Given the description of an element on the screen output the (x, y) to click on. 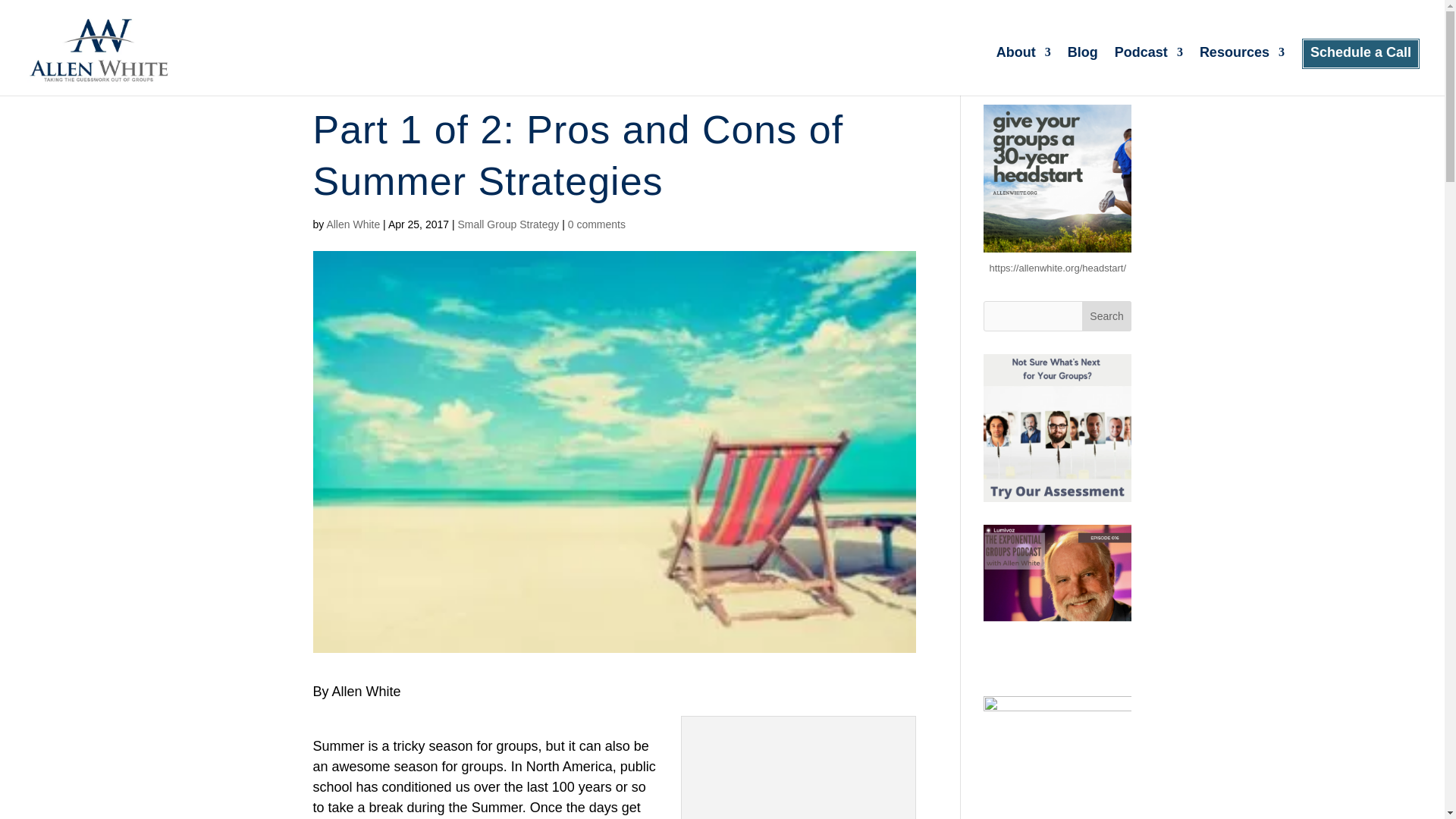
Small Group Strategy (508, 224)
Resources (1241, 70)
Allen White (353, 224)
Podcast (1148, 70)
Schedule a Call (1360, 70)
About (1023, 70)
Posts by Allen White (353, 224)
Search (1106, 316)
0 comments (596, 224)
